Given the description of an element on the screen output the (x, y) to click on. 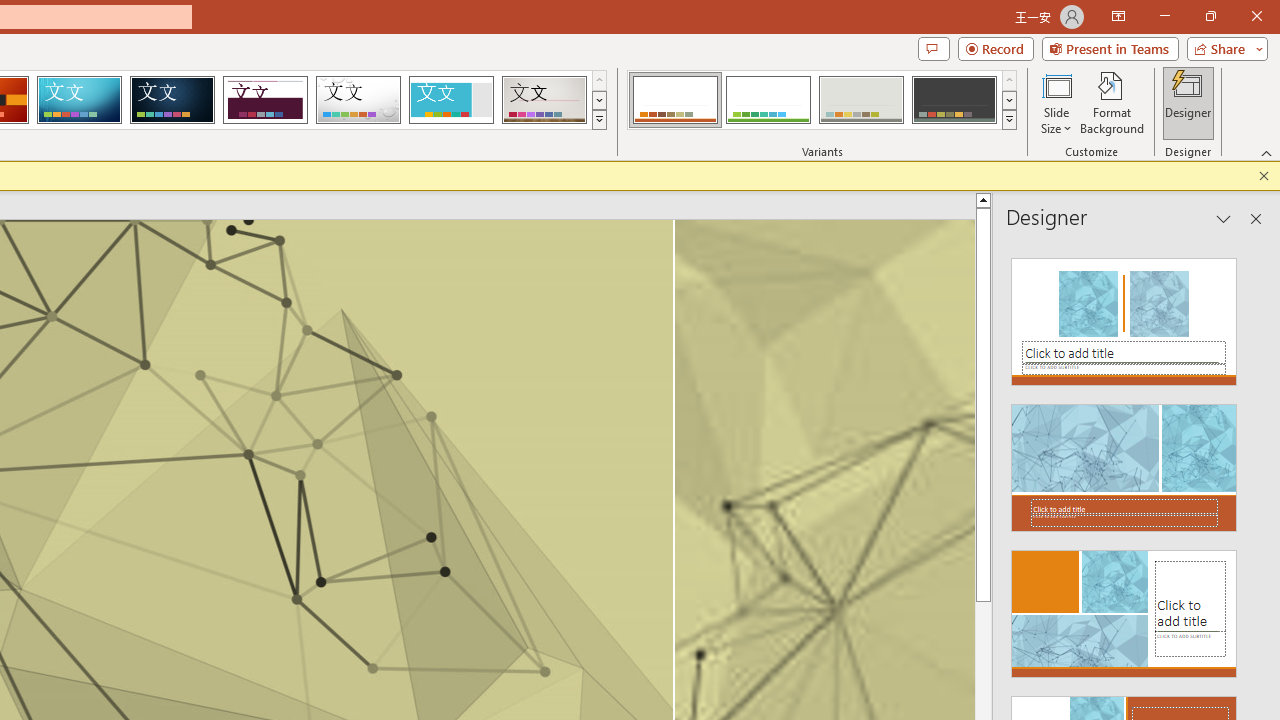
Circuit (79, 100)
Close this message (1263, 176)
Retrospect Variant 4 (953, 100)
